Given the description of an element on the screen output the (x, y) to click on. 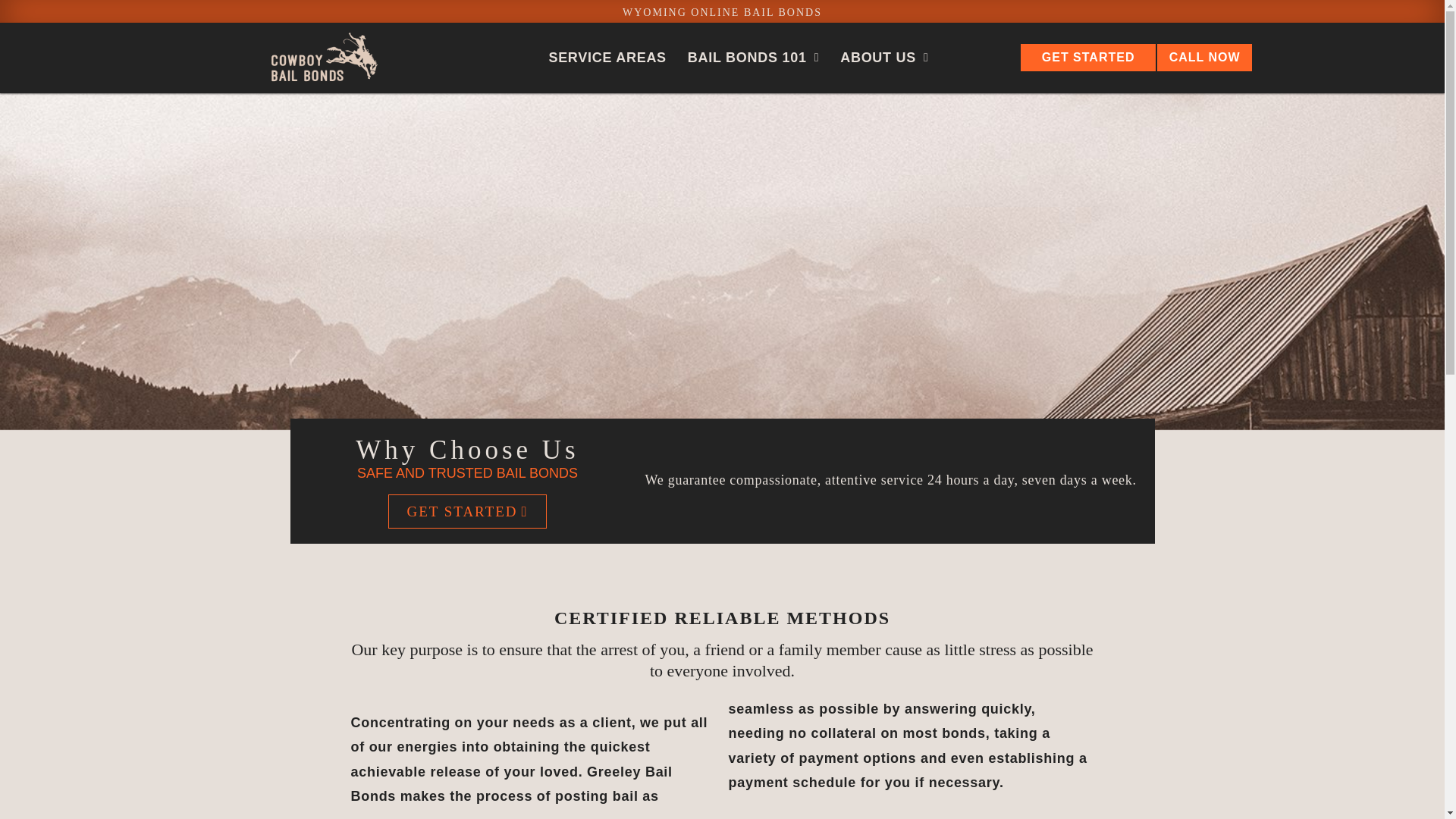
WYOMING ONLINE BAIL BONDS (722, 12)
cowboy-bail-bonds (323, 57)
ABOUT US (883, 57)
GET STARTED (1087, 57)
CALL NOW (1204, 57)
SERVICE AREAS (606, 57)
GET STARTED (467, 511)
BAIL BONDS 101 (753, 57)
